Given the description of an element on the screen output the (x, y) to click on. 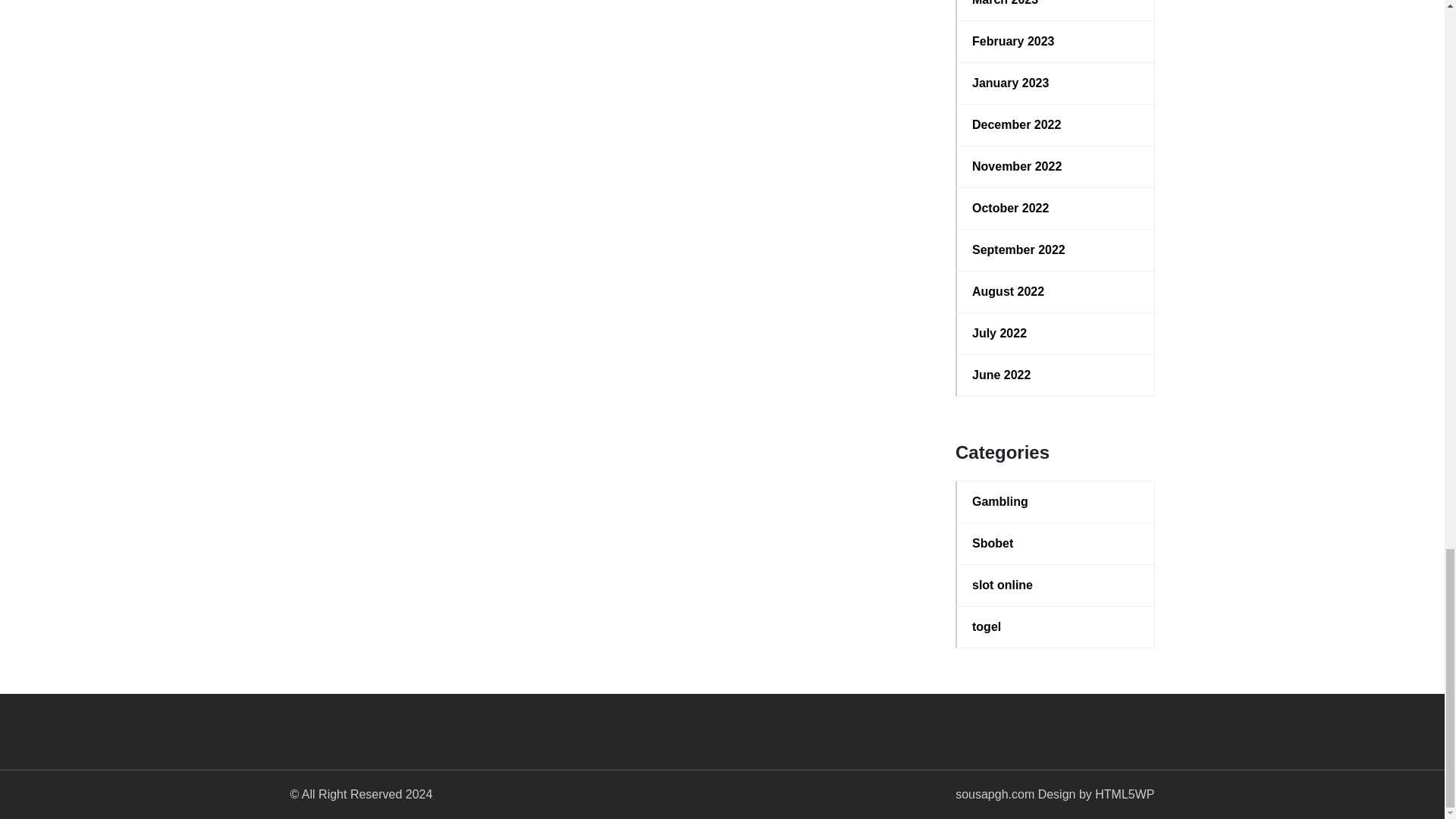
August 2022 (1055, 291)
November 2022 (1055, 167)
January 2023 (1055, 83)
September 2022 (1055, 249)
October 2022 (1055, 208)
February 2023 (1055, 41)
March 2023 (1055, 4)
December 2022 (1055, 125)
